Given the description of an element on the screen output the (x, y) to click on. 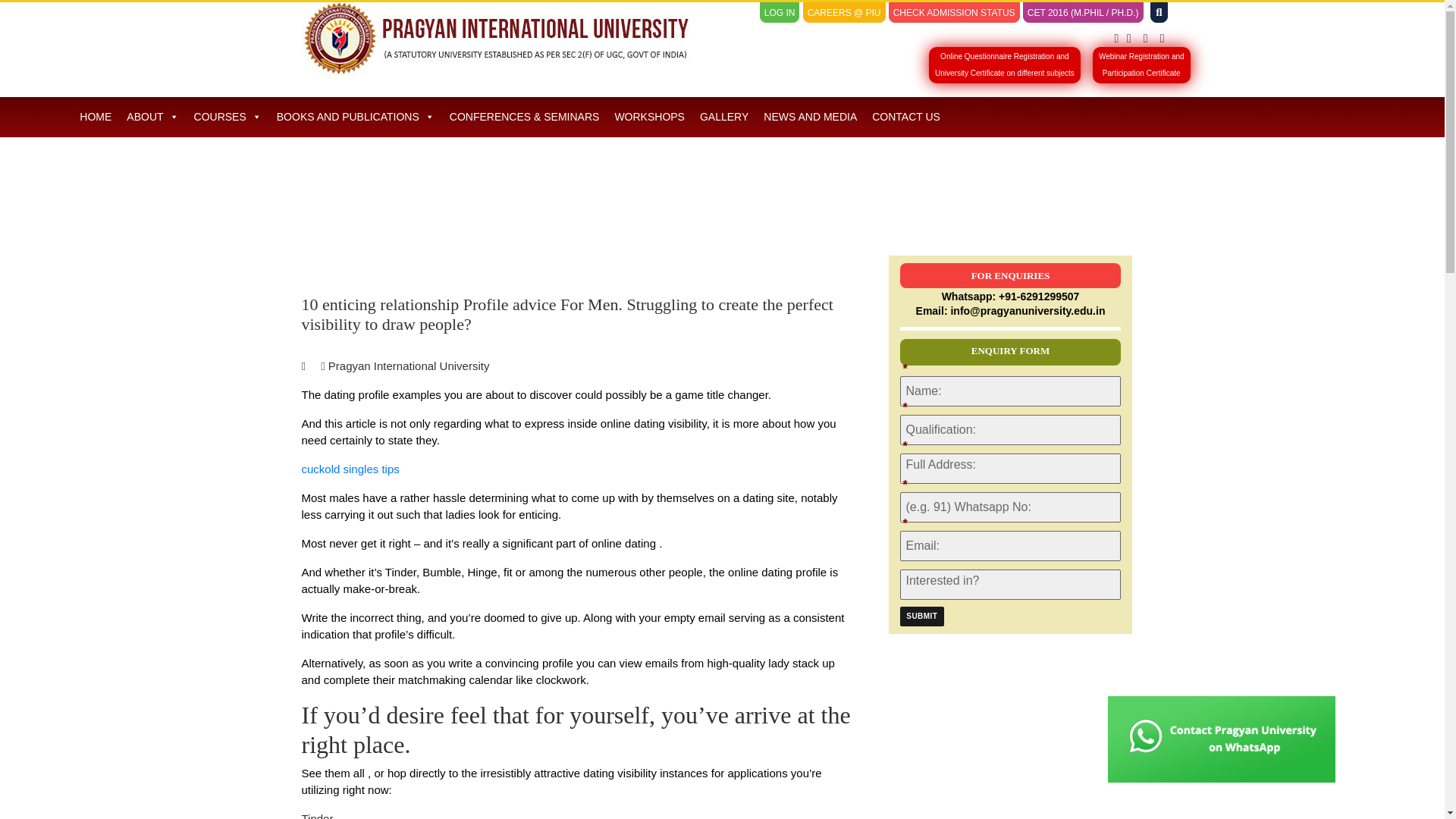
COURSES (227, 116)
CHECK ADMISSION STATUS (953, 12)
LOG IN (779, 12)
Submit (921, 616)
ABOUT (152, 116)
BOOKS AND PUBLICATIONS (1142, 64)
HOME (355, 116)
